Given the description of an element on the screen output the (x, y) to click on. 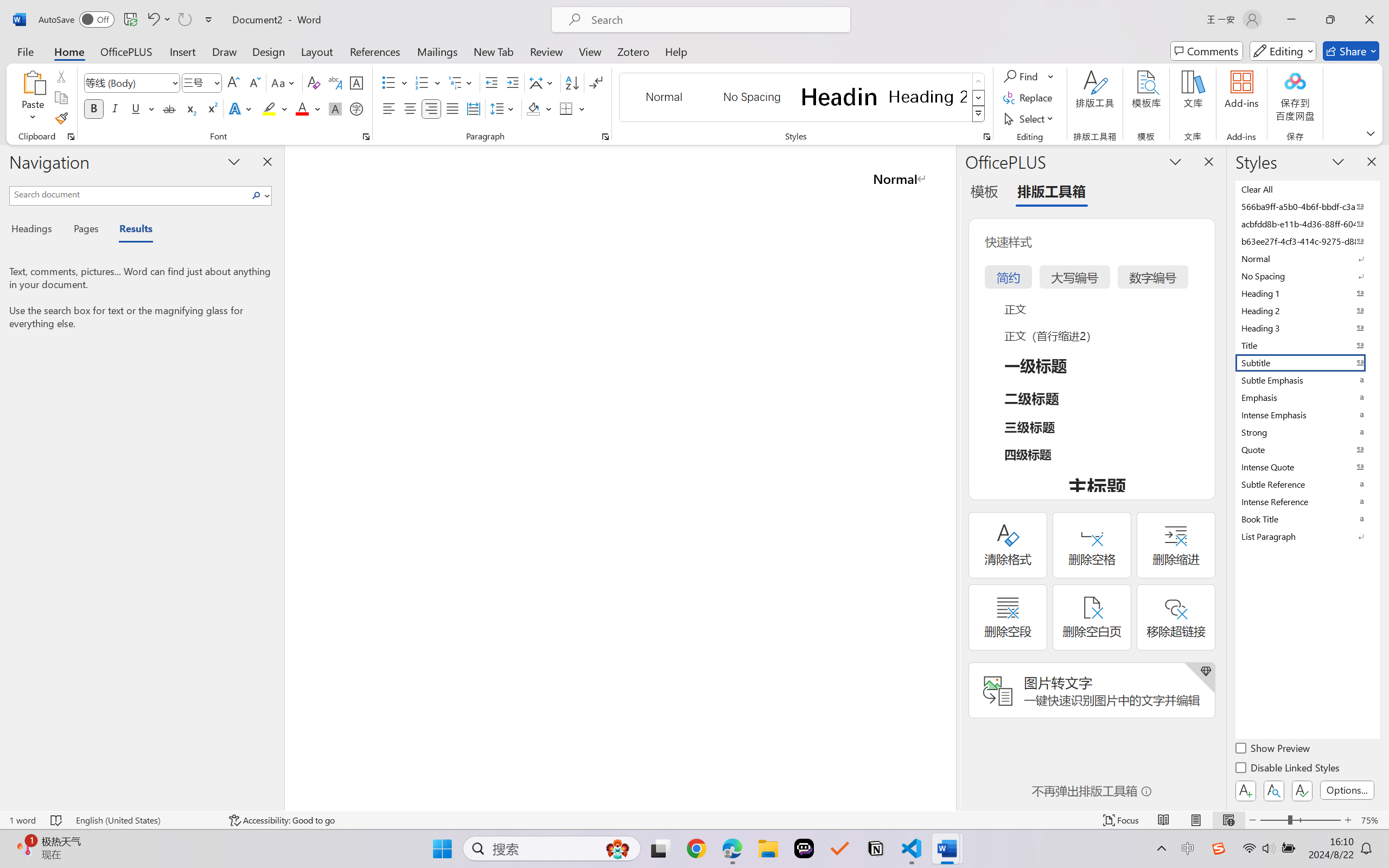
Pages (85, 229)
Align Left (388, 108)
Change Case (284, 82)
Heading 3 (1306, 327)
New Tab (493, 51)
Borders (566, 108)
Zotero (632, 51)
Can't Repeat (184, 19)
Format Painter (60, 118)
Focus  (1121, 819)
Grow Font (233, 82)
Print Layout (1196, 819)
